Given the description of an element on the screen output the (x, y) to click on. 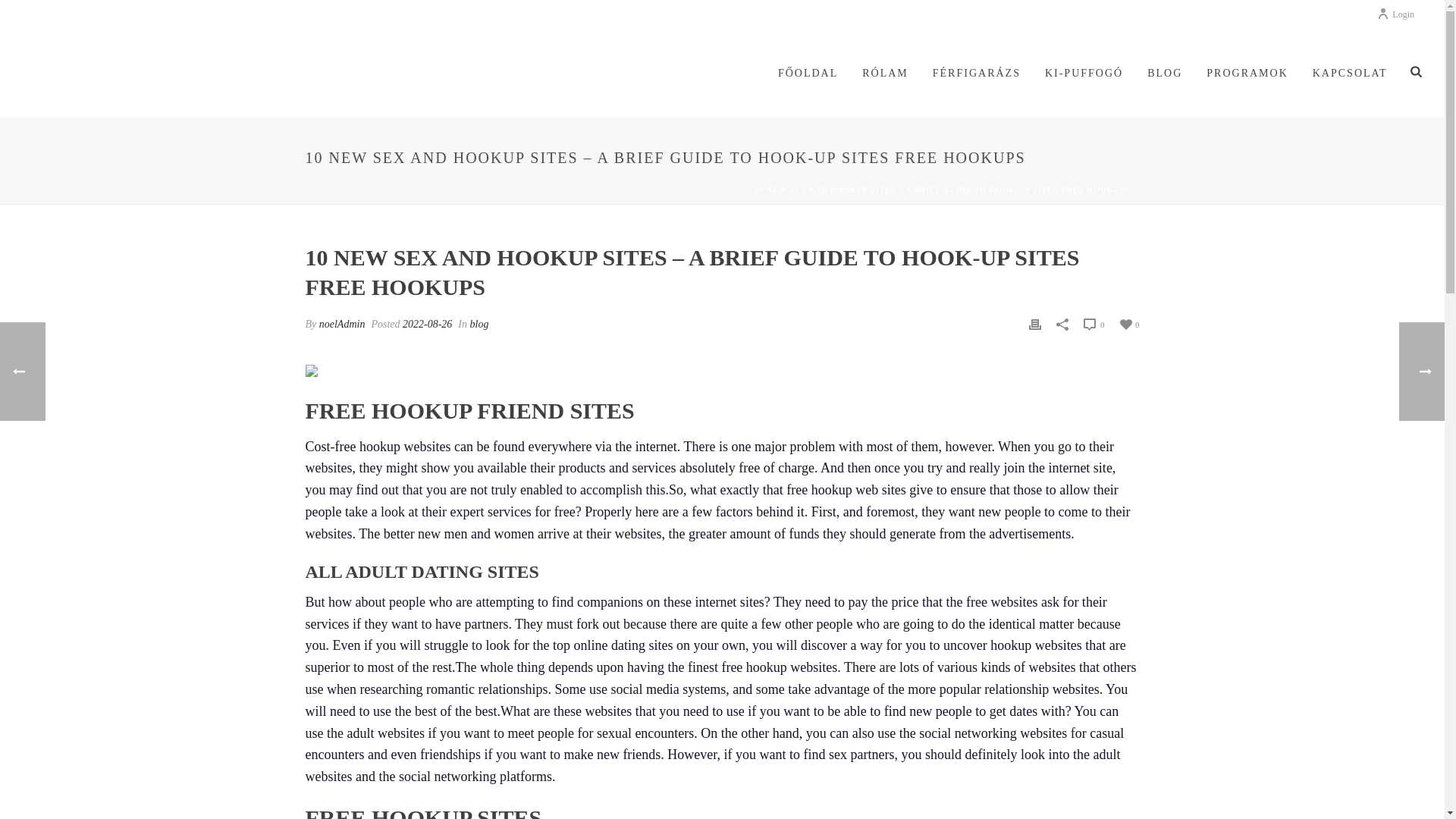
HOME (699, 189)
2022-08-26 (427, 324)
PROGRAMOK (1246, 73)
blog (479, 324)
KAPCSOLAT (1349, 73)
Login (1395, 14)
KAPCSOLAT (1349, 73)
noelAdmin (341, 324)
BLOG (1164, 73)
0 (1128, 322)
PROGRAMOK (1246, 73)
BLOG (1164, 73)
BLOG (734, 189)
